Given the description of an element on the screen output the (x, y) to click on. 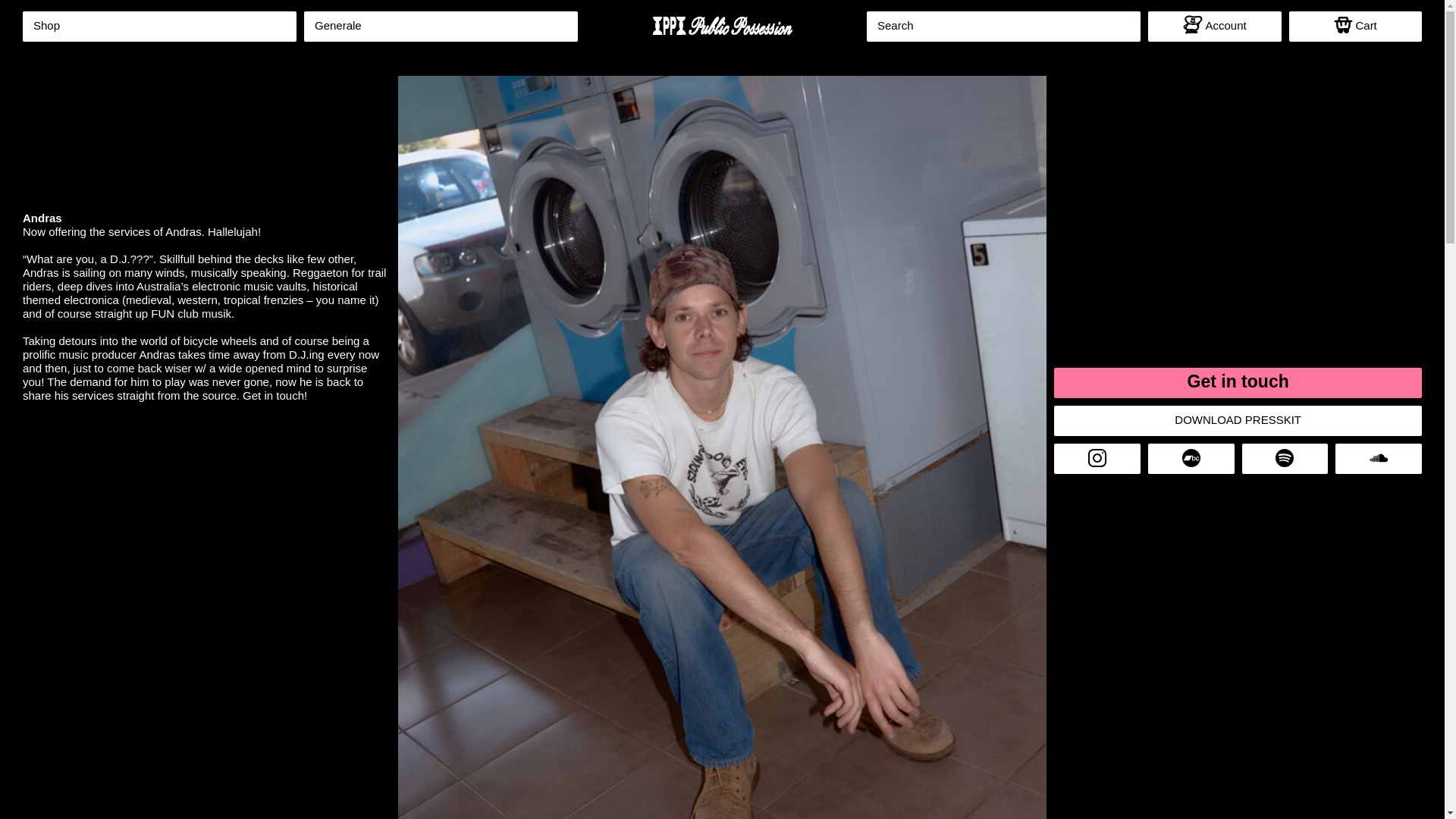
spotify (1284, 458)
Public Possession (722, 26)
DOWNLOAD PRESSKIT (1238, 420)
bandcamp (1191, 458)
Andras - DJ Set - Channel 10 - Love Project by Love Project (206, 444)
Search (1003, 26)
Get in touch (1238, 382)
soundcloud (1378, 458)
Generale (441, 26)
instagram (1097, 458)
